Given the description of an element on the screen output the (x, y) to click on. 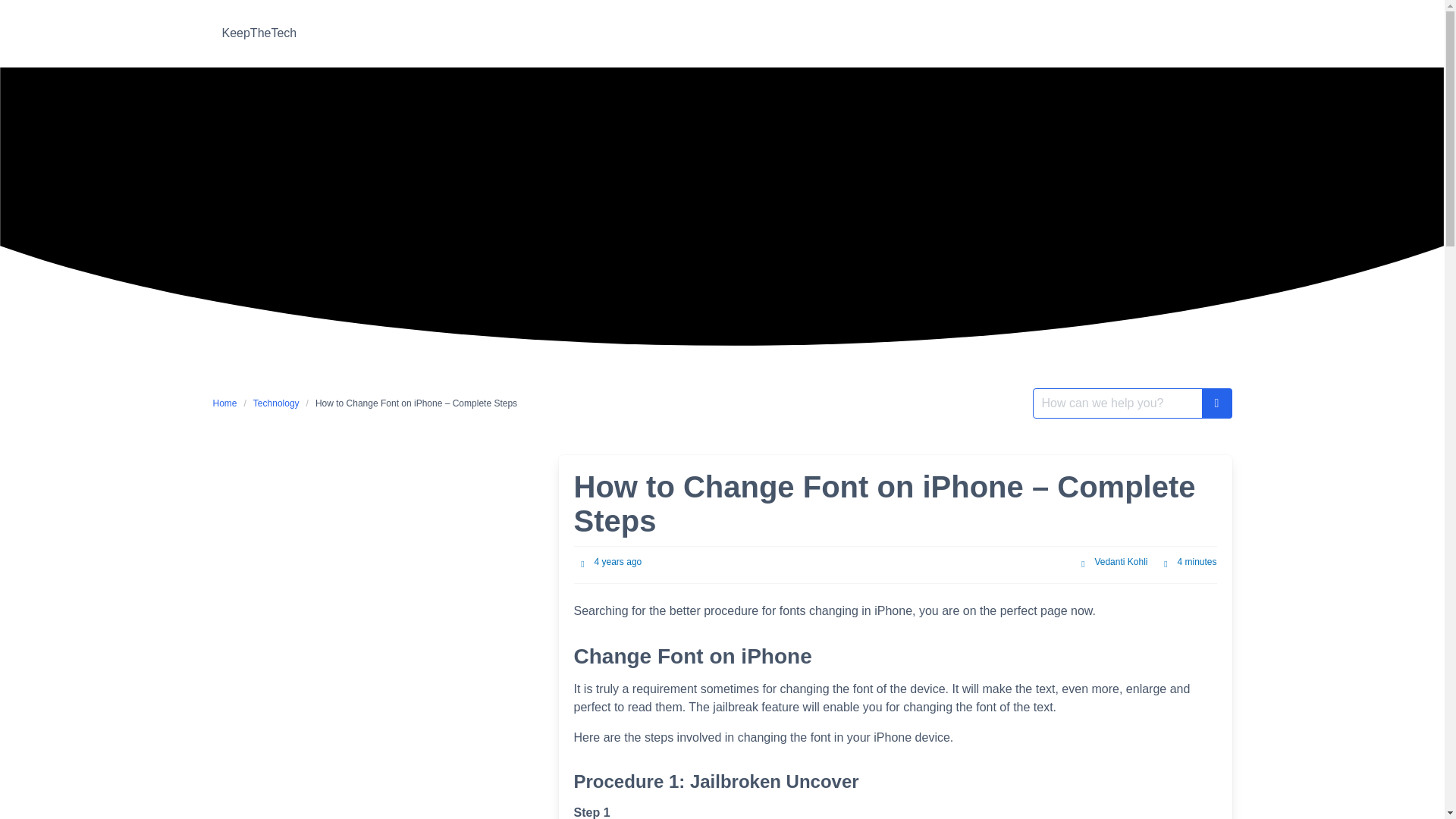
Vedanti Kohli (1120, 561)
Technology (275, 403)
KeepTheTech (258, 33)
Home (227, 403)
KeepTheTech (258, 33)
